Given the description of an element on the screen output the (x, y) to click on. 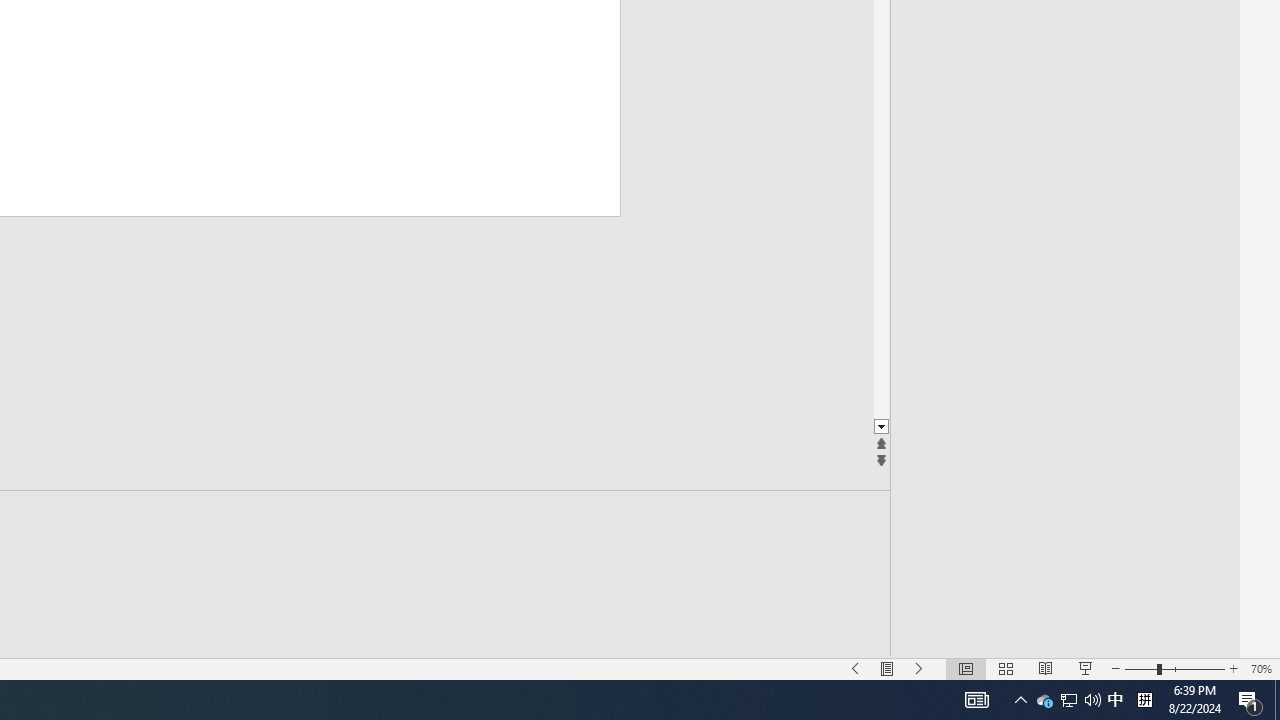
Slide Show Next On (919, 668)
Slide Show Previous On (855, 668)
Menu On (887, 668)
Zoom 70% (1261, 668)
